Given the description of an element on the screen output the (x, y) to click on. 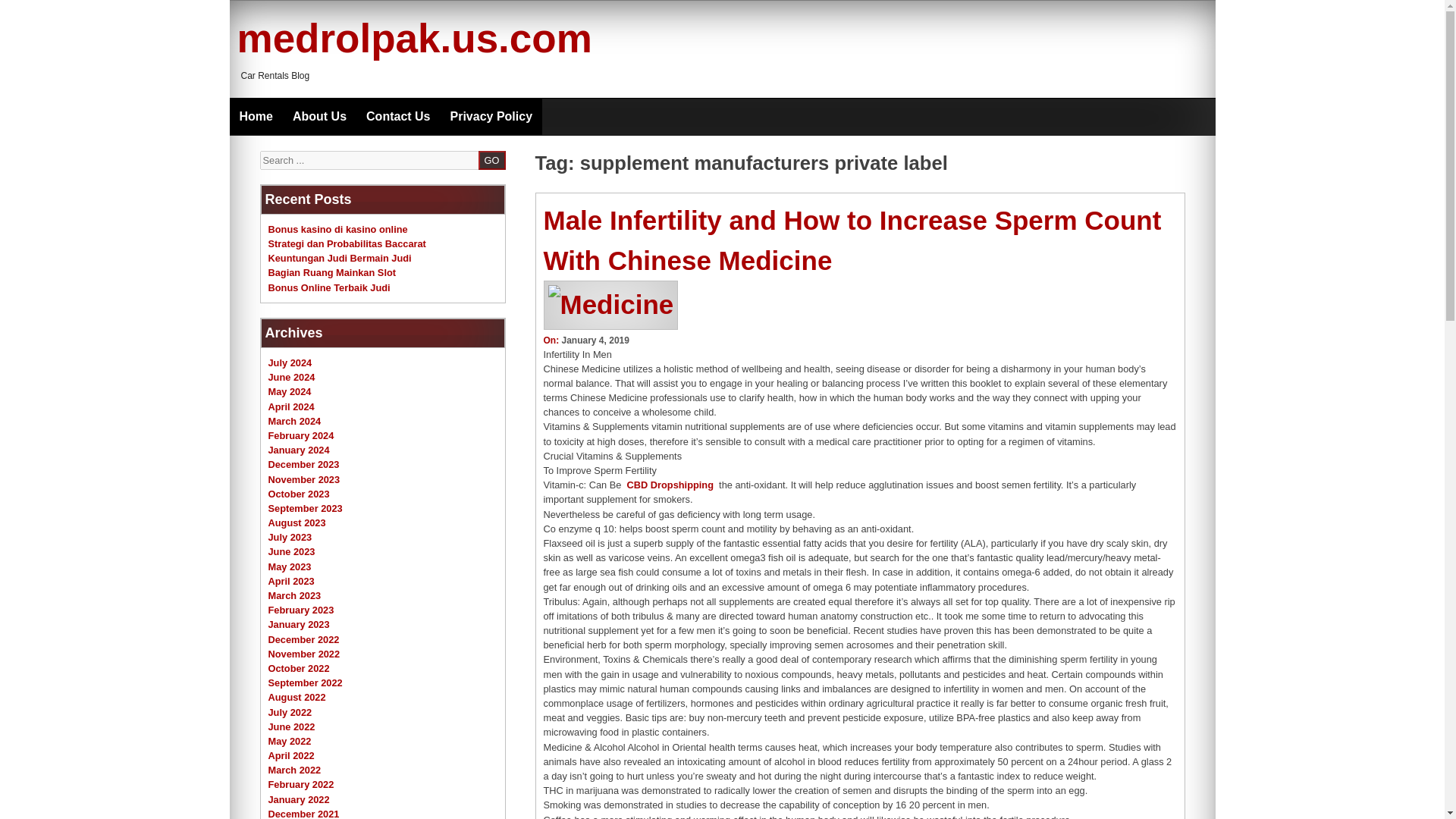
GO (492, 158)
About Us (319, 116)
CBD Dropshipping (670, 484)
May 2023 (289, 566)
GO (492, 158)
July 2023 (290, 536)
January 2024 (298, 449)
April 2024 (290, 406)
Bonus Online Terbaik Judi (328, 287)
October 2023 (298, 493)
January 4, 2019 (594, 339)
December 2023 (303, 464)
July 2024 (290, 362)
Strategi dan Probabilitas Baccarat (346, 243)
June 2023 (291, 551)
